Given the description of an element on the screen output the (x, y) to click on. 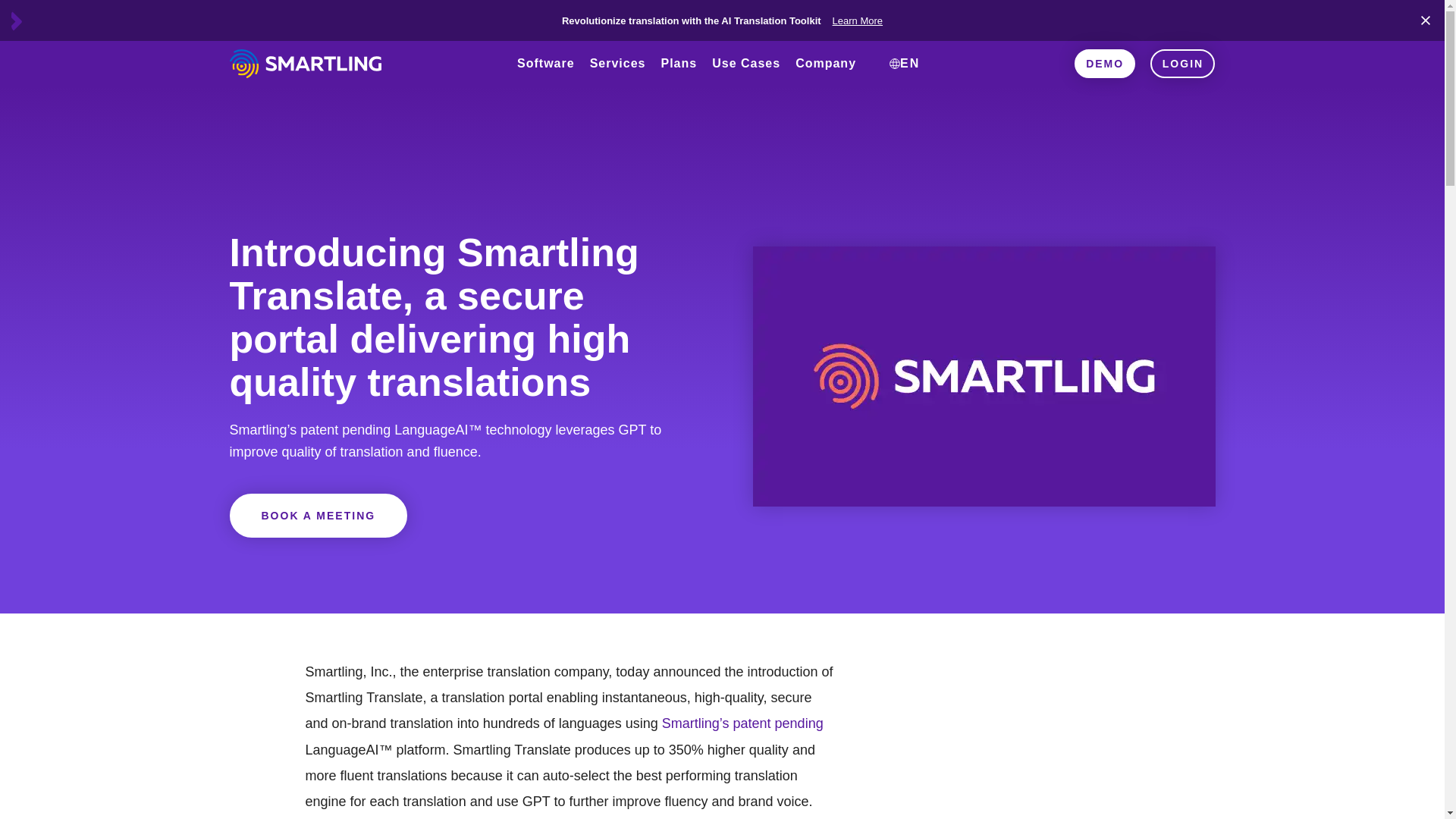
Software (545, 79)
Services (617, 79)
